Given the description of an element on the screen output the (x, y) to click on. 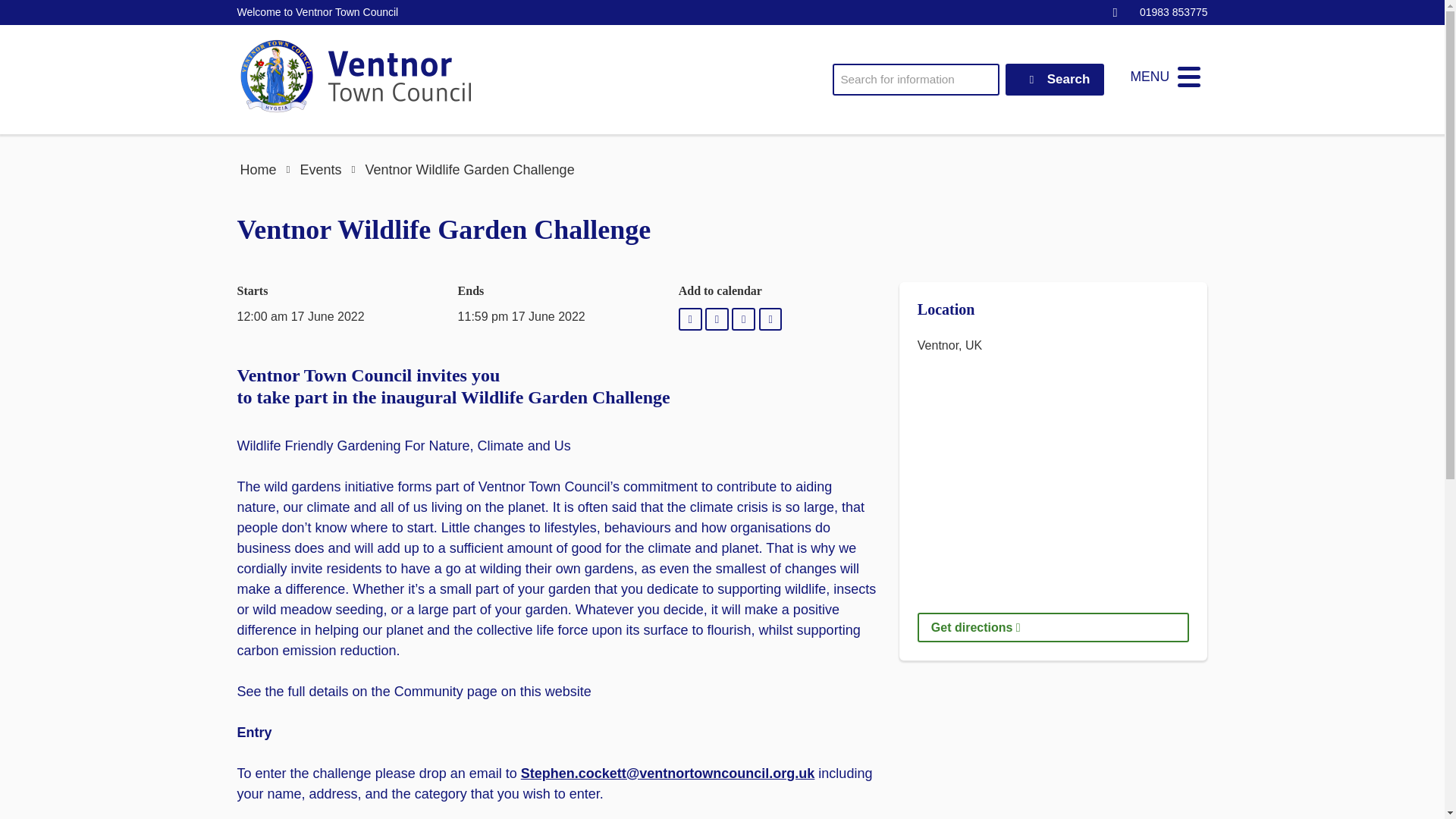
MENU (1164, 76)
Go to Events. (319, 169)
Search (1055, 79)
Go to Home. (258, 169)
Email Ventnor Town Council (1114, 12)
